Given the description of an element on the screen output the (x, y) to click on. 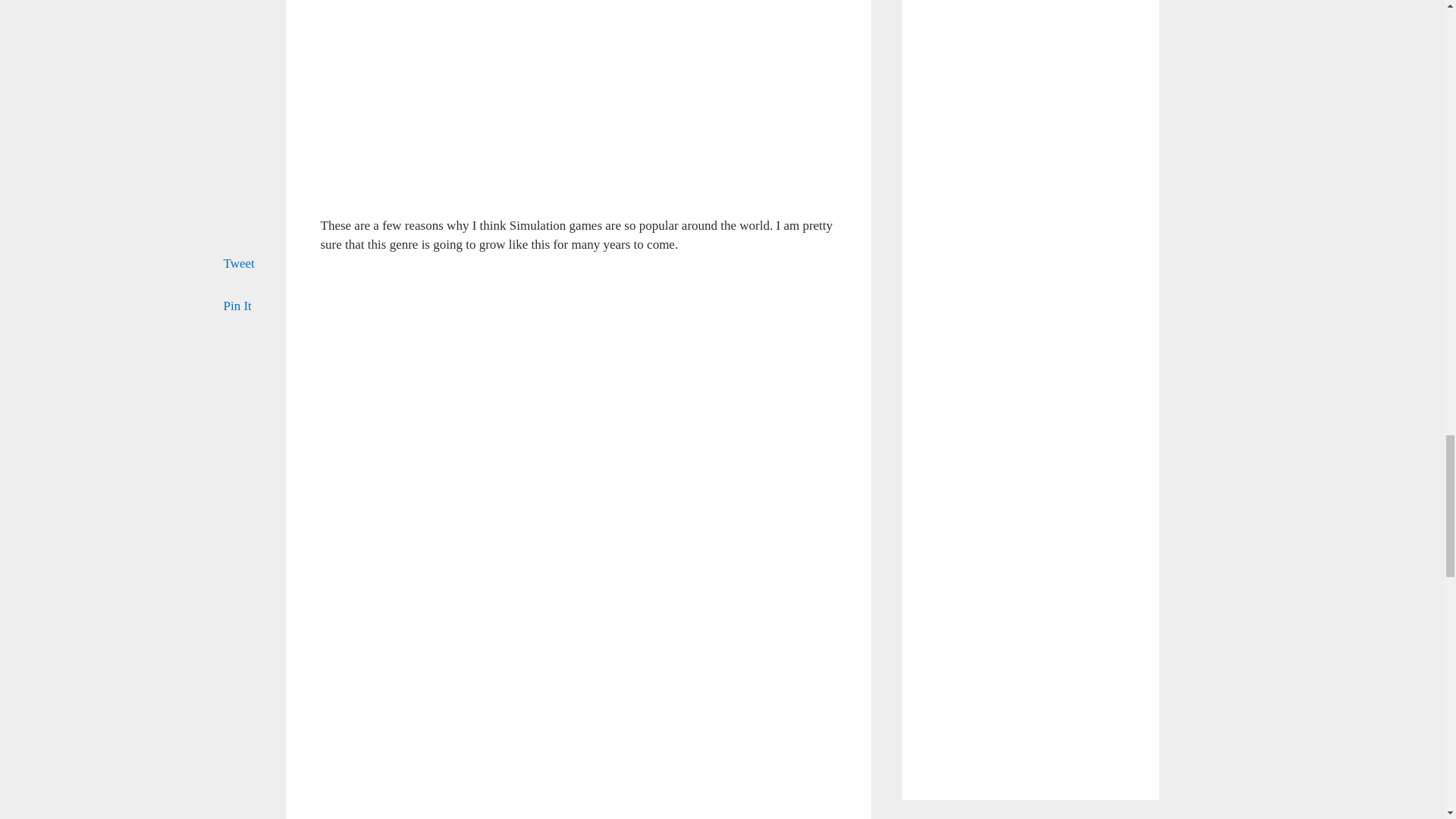
Advertisement (577, 376)
Advertisement (577, 109)
